Given the description of an element on the screen output the (x, y) to click on. 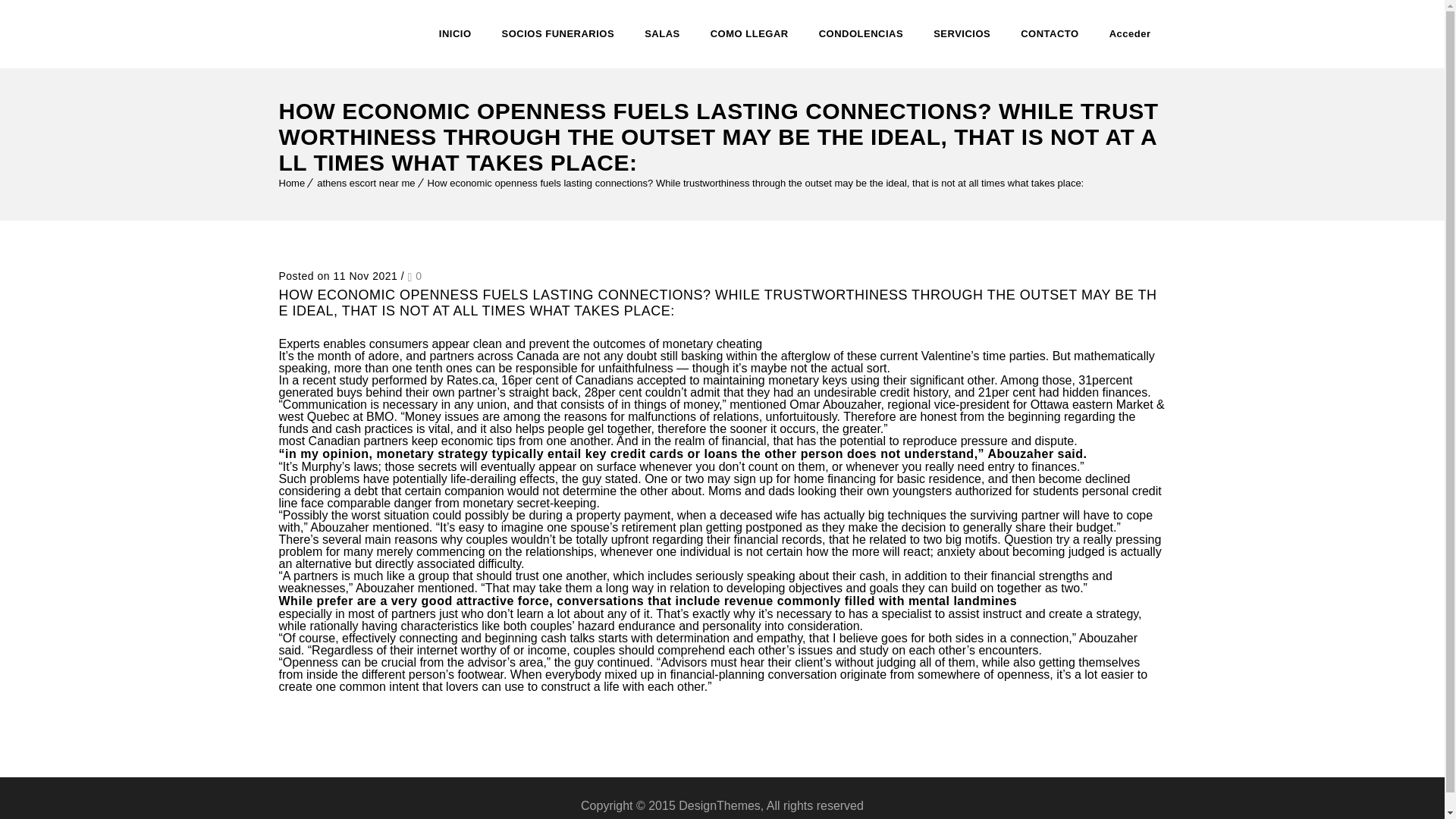
Home (292, 183)
SOCIOS FUNERARIOS (558, 33)
TANATORIO-CREMATORIO  AS BURGAS (333, 33)
CONDOLENCIAS (860, 33)
0 (414, 275)
COMO LLEGAR (749, 33)
TANATORIO-CREMATORIO  AS BURGAS (333, 34)
athens escort near me (365, 183)
